Given the description of an element on the screen output the (x, y) to click on. 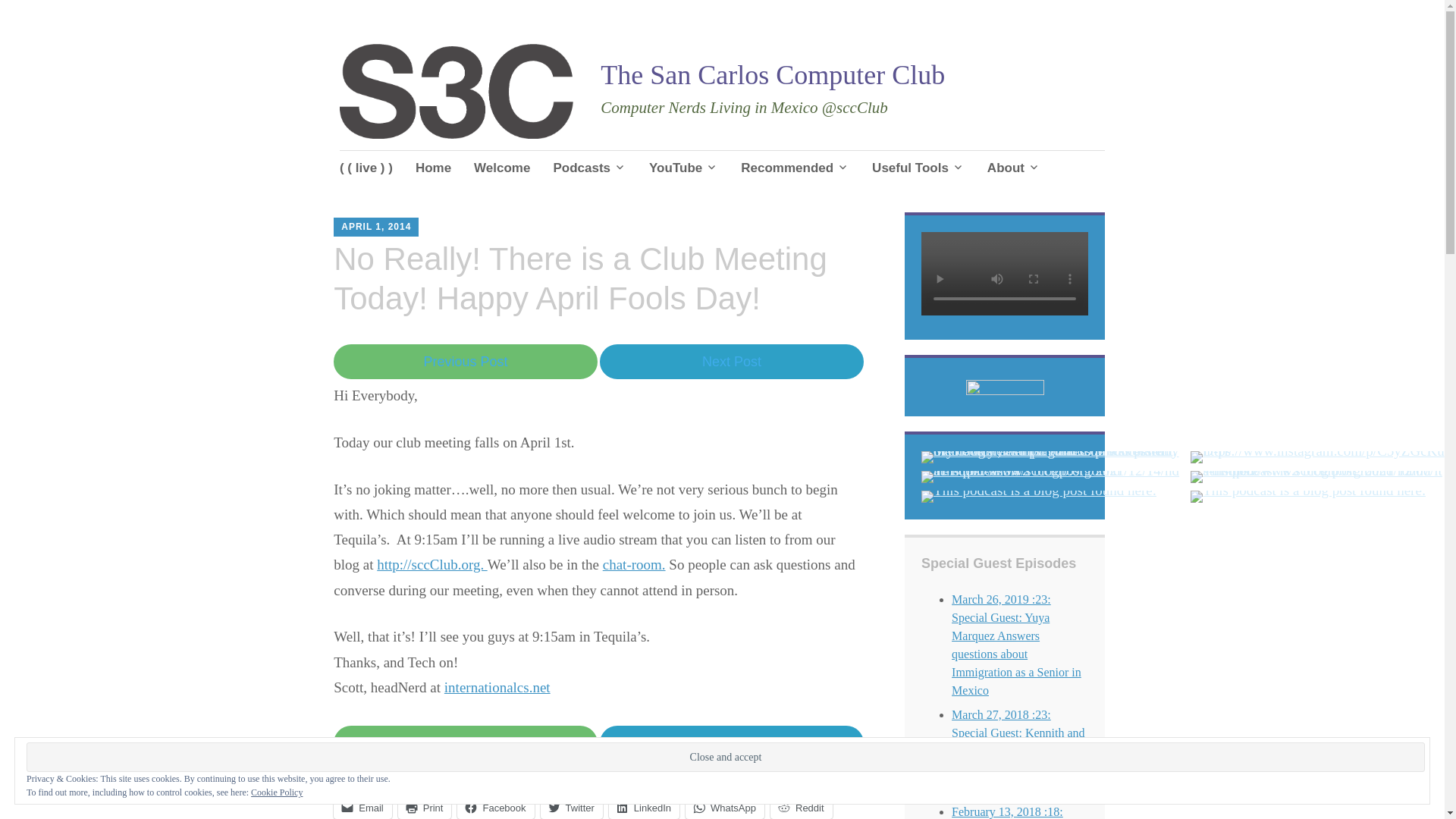
Next Post (731, 742)
Next Post (731, 361)
Podcasts (589, 169)
Next Post (731, 361)
WhatsApp (724, 807)
Recommended (794, 169)
Chat-Room (633, 564)
Previous Post (464, 361)
The San Carlos Computer Club (771, 74)
Next Post (731, 743)
chat-room. (633, 564)
Useful Tools (917, 169)
SCOTT (446, 221)
Print (424, 807)
Close and accept (725, 757)
